Given the description of an element on the screen output the (x, y) to click on. 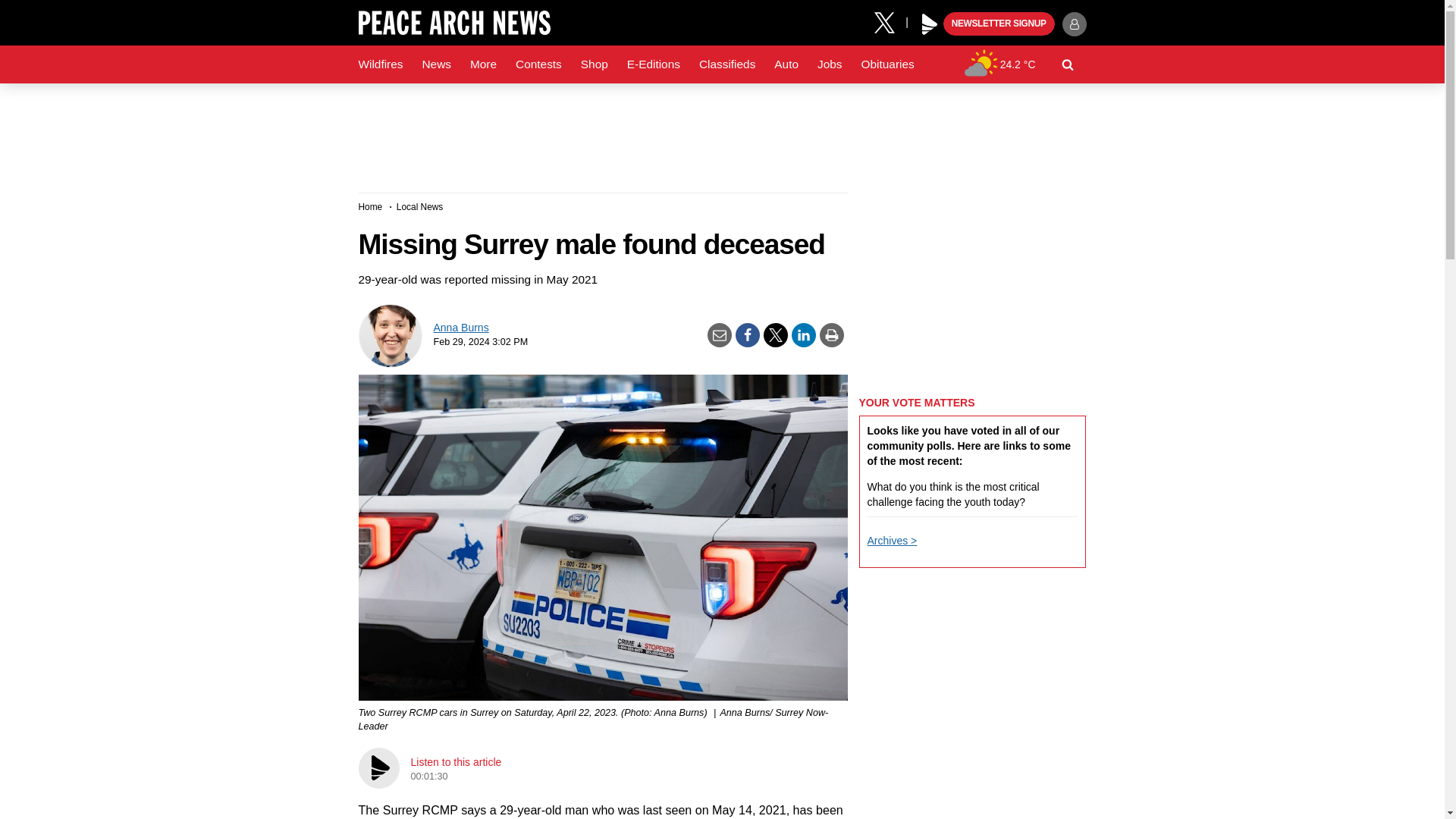
News (435, 64)
X (889, 21)
Wildfires (380, 64)
Play (929, 24)
Black Press Media (929, 24)
NEWSLETTER SIGNUP (998, 24)
